Given the description of an element on the screen output the (x, y) to click on. 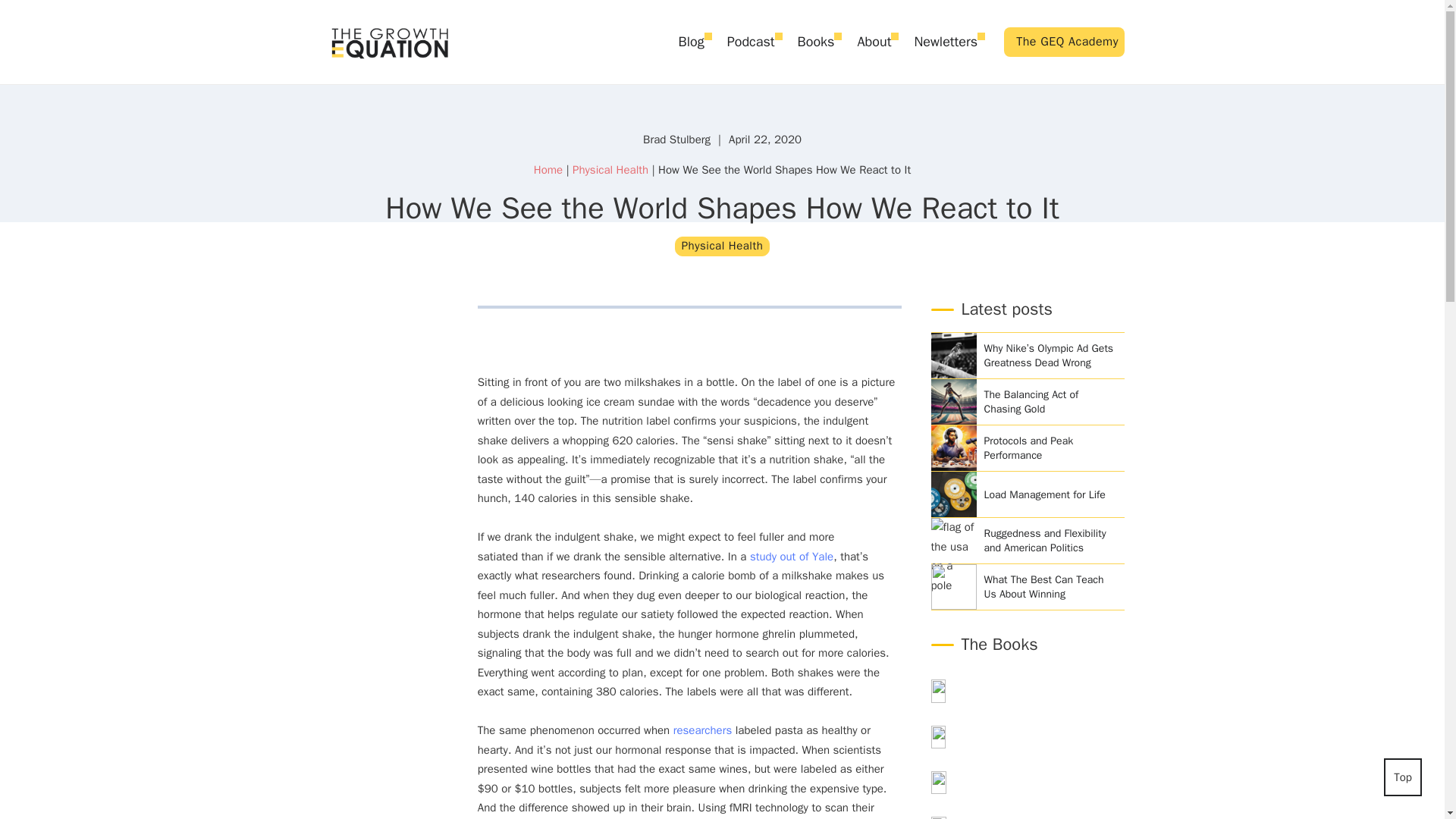
The GEQ Academy (1064, 41)
Podcast (750, 42)
Physical Health (609, 169)
Physical Health (722, 246)
study out of Yale (790, 556)
The Balancing Act of Chasing Gold (1050, 402)
About (874, 42)
researchers (702, 730)
Books (815, 42)
Load Management for Life (1050, 493)
What The Best Can Teach Us About Winning (1050, 586)
Protocols and Peak Performance (1050, 447)
Newletters (945, 42)
Blog (690, 42)
Home (548, 169)
